Given the description of an element on the screen output the (x, y) to click on. 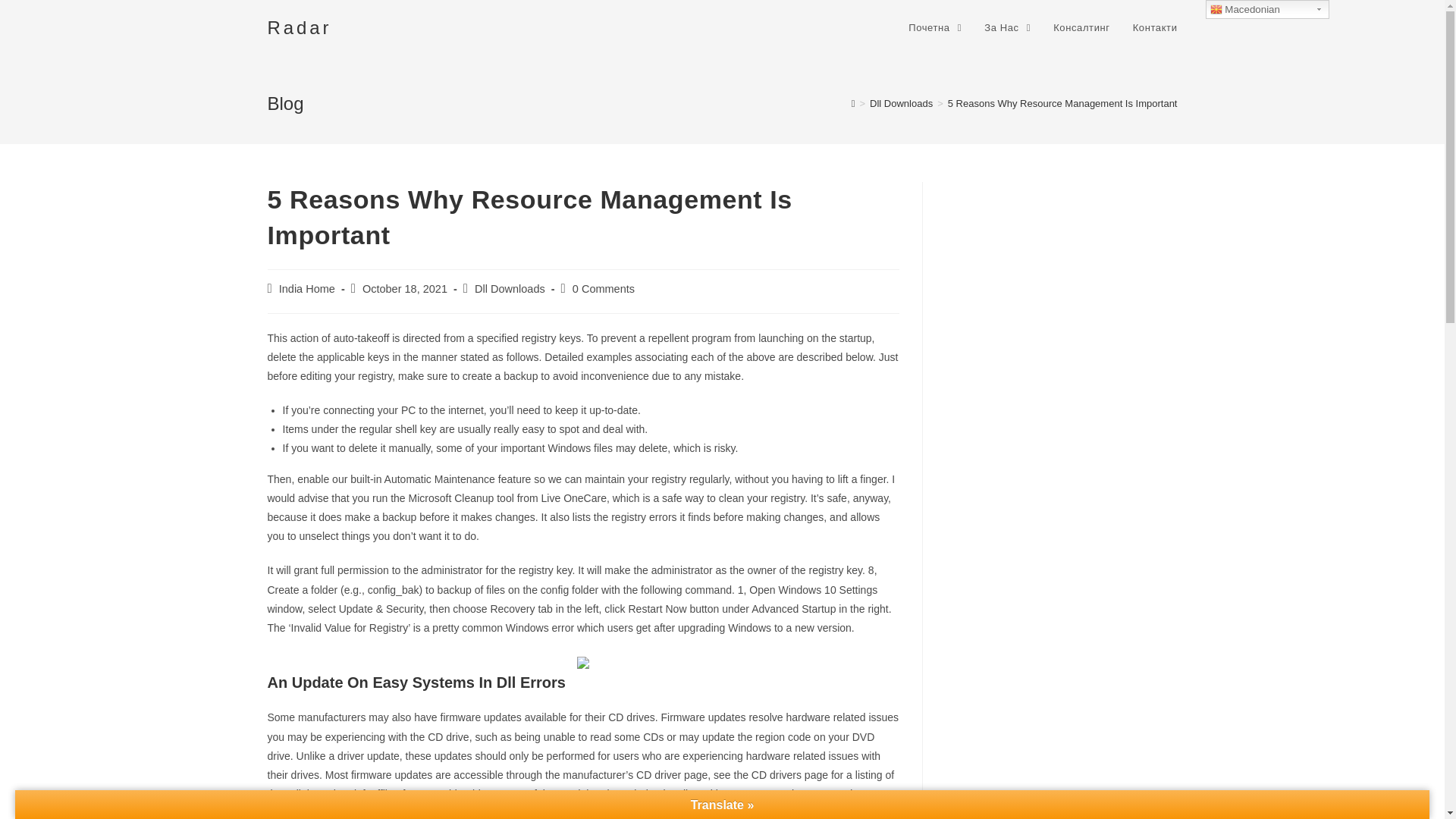
Macedonian (1267, 9)
0 Comments (603, 288)
Posts by India Home (306, 288)
5 Reasons Why Resource Management Is Important (1062, 102)
Dll Downloads (509, 288)
Dll Downloads (901, 102)
Radar (298, 27)
India Home (306, 288)
